Given the description of an element on the screen output the (x, y) to click on. 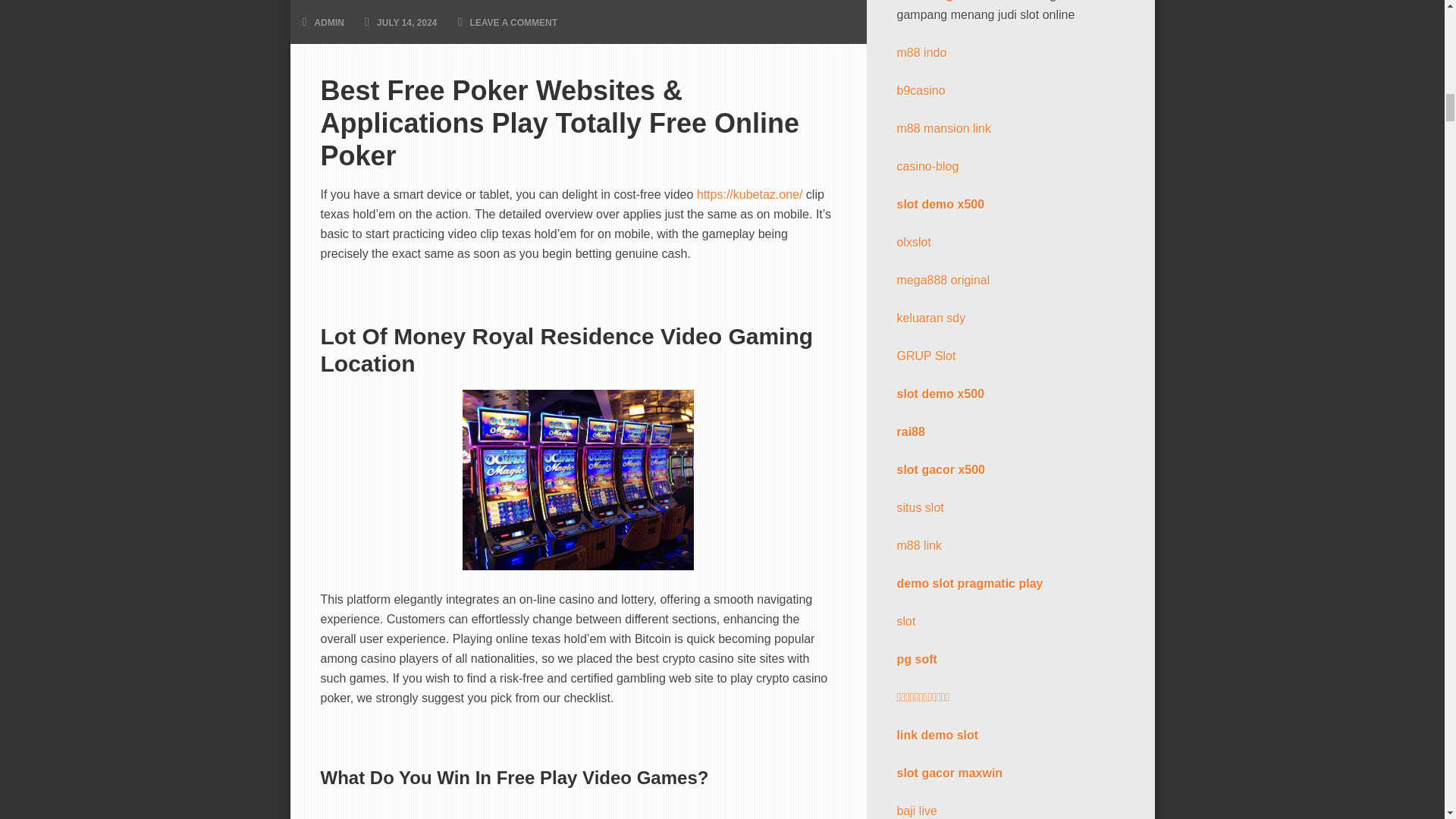
LEAVE A COMMENT (512, 22)
ADMIN (328, 22)
m88 indo (921, 51)
